Given the description of an element on the screen output the (x, y) to click on. 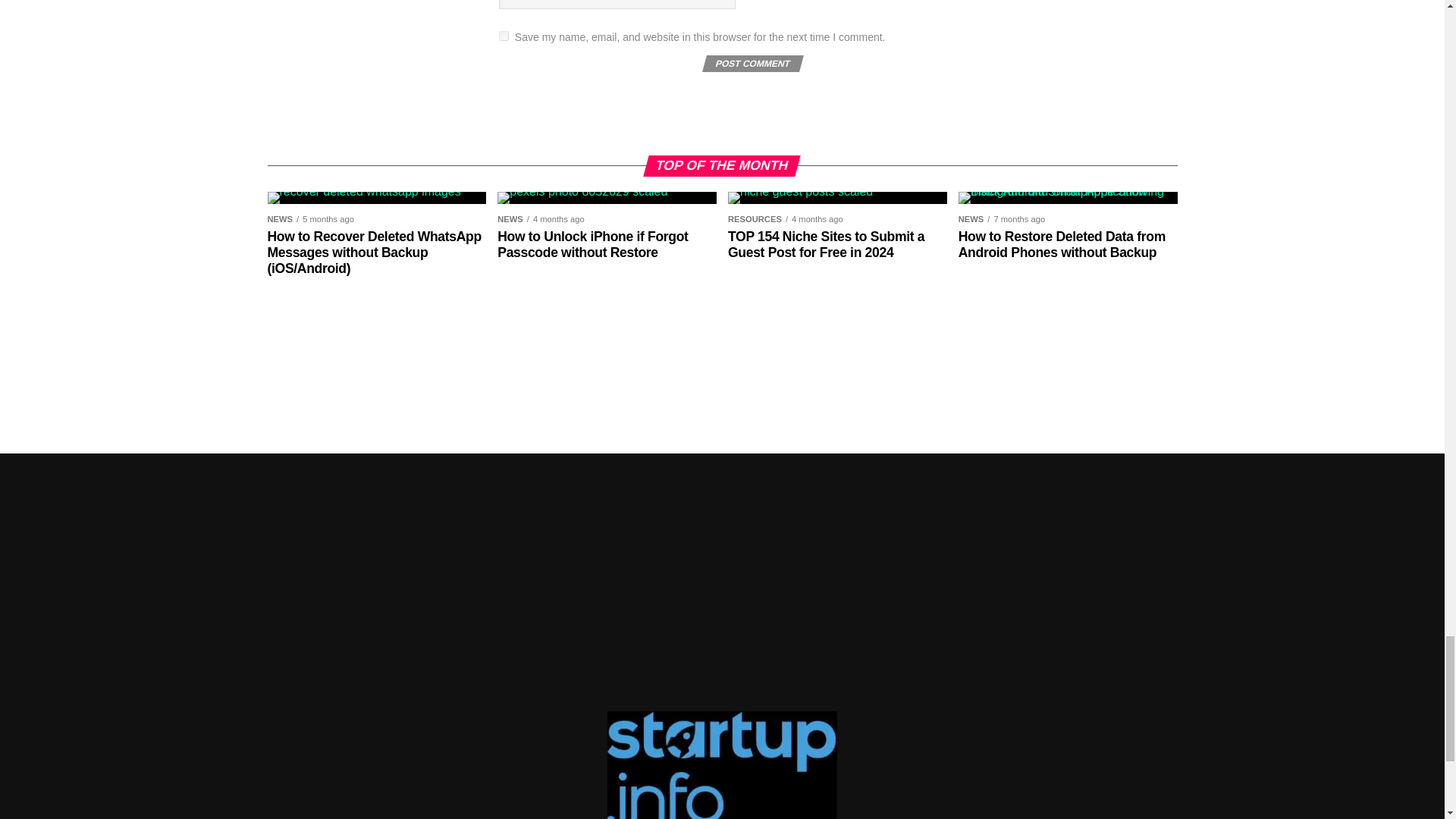
Post Comment (750, 63)
yes (503, 35)
